Given the description of an element on the screen output the (x, y) to click on. 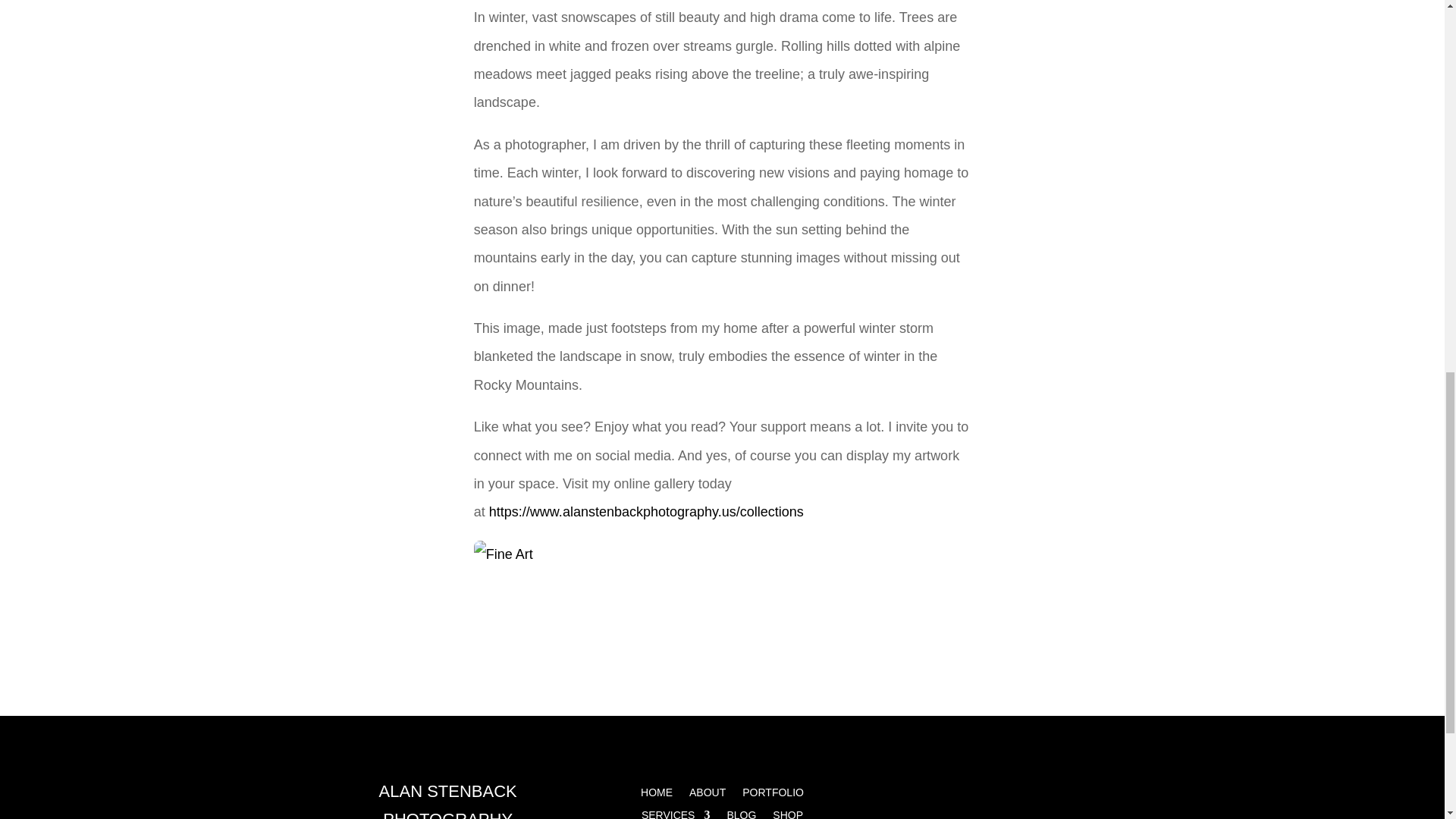
Google Map (1002, 798)
SERVICES (676, 814)
Fine Art (503, 554)
HOME (656, 795)
ABOUT (706, 795)
PORTFOLIO (772, 795)
SHOP (788, 814)
BLOG (740, 814)
